Given the description of an element on the screen output the (x, y) to click on. 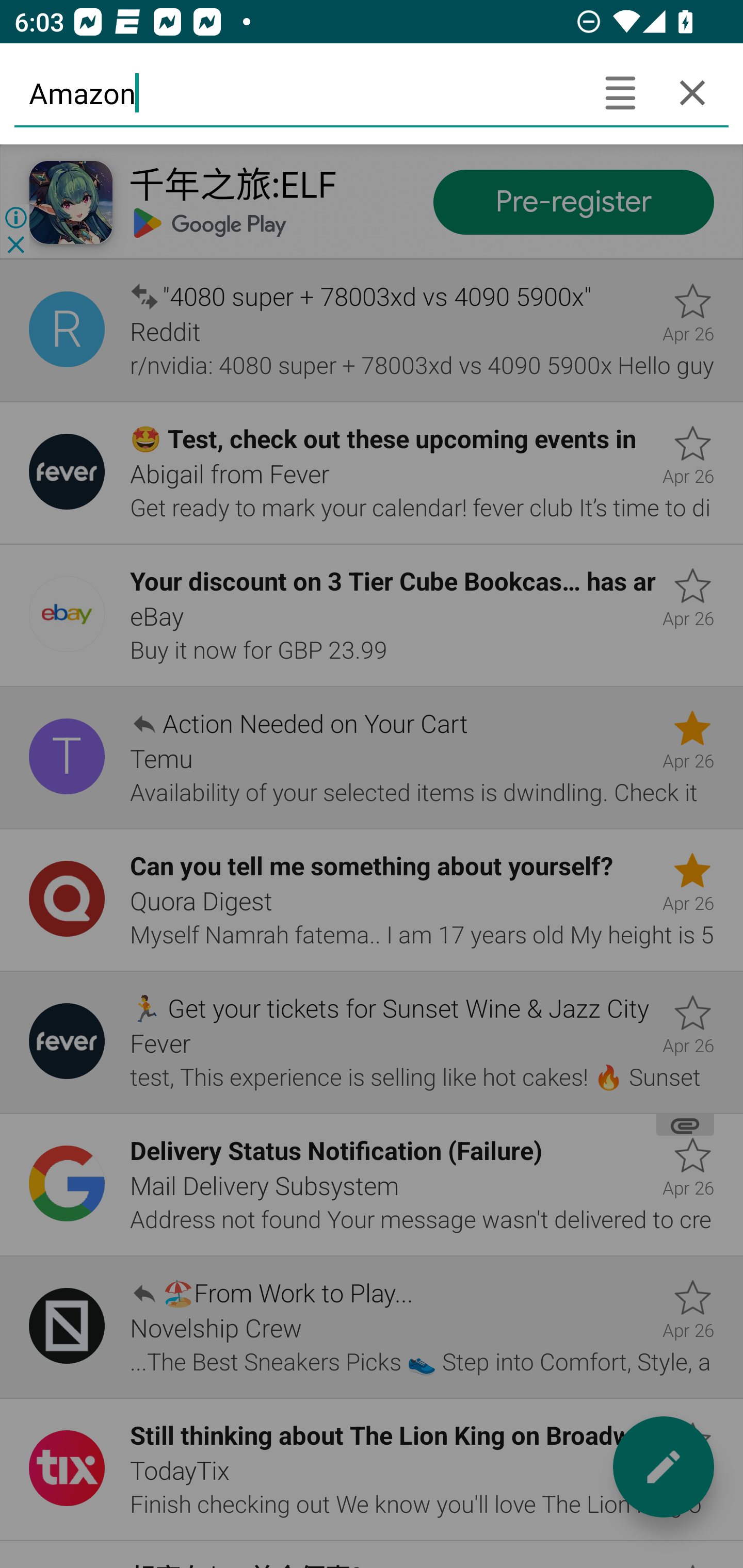
Amazon (298, 92)
Search headers only (619, 92)
Cancel (692, 92)
